Given the description of an element on the screen output the (x, y) to click on. 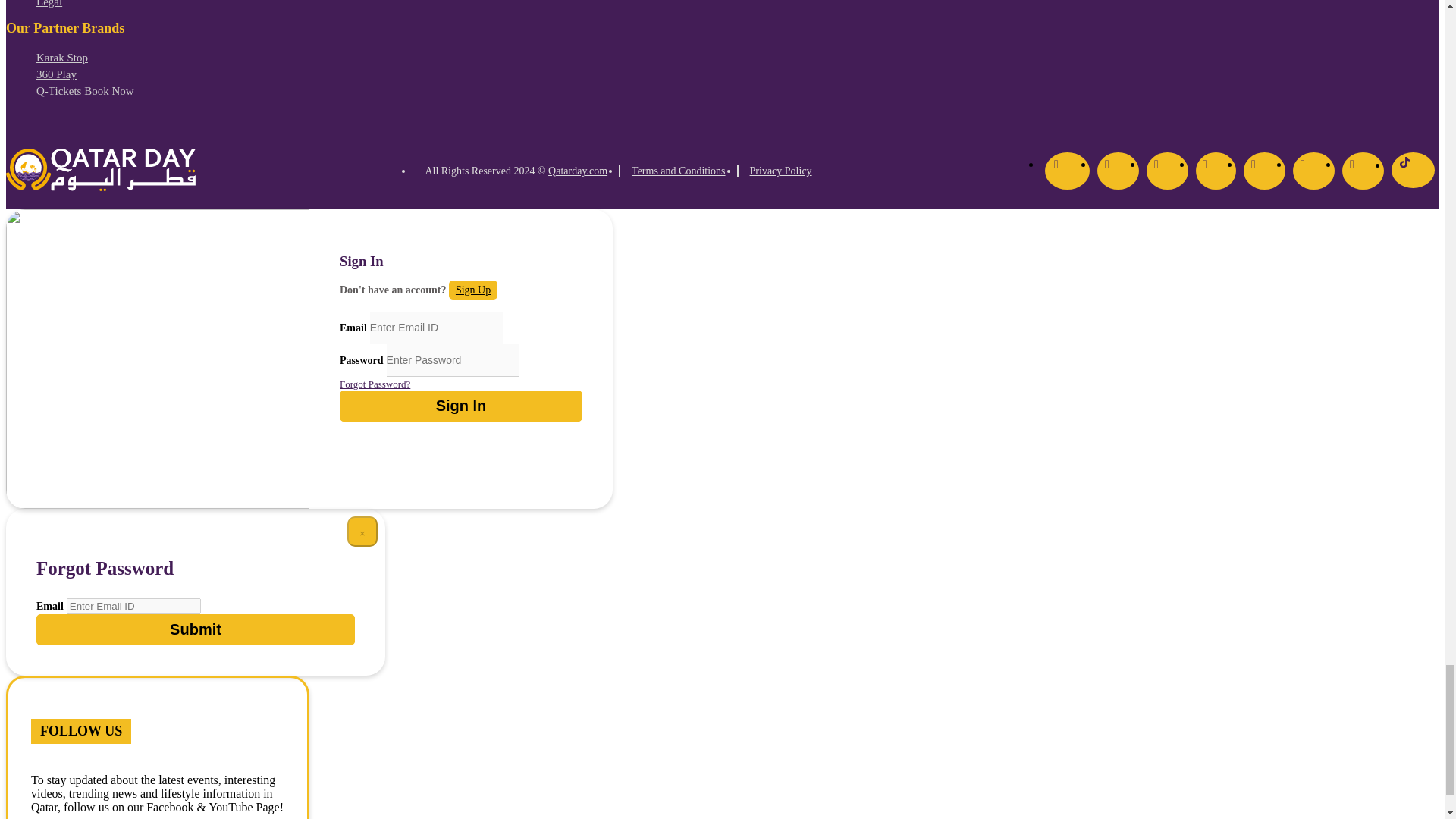
Submit (195, 629)
Sign In (460, 405)
